Given the description of an element on the screen output the (x, y) to click on. 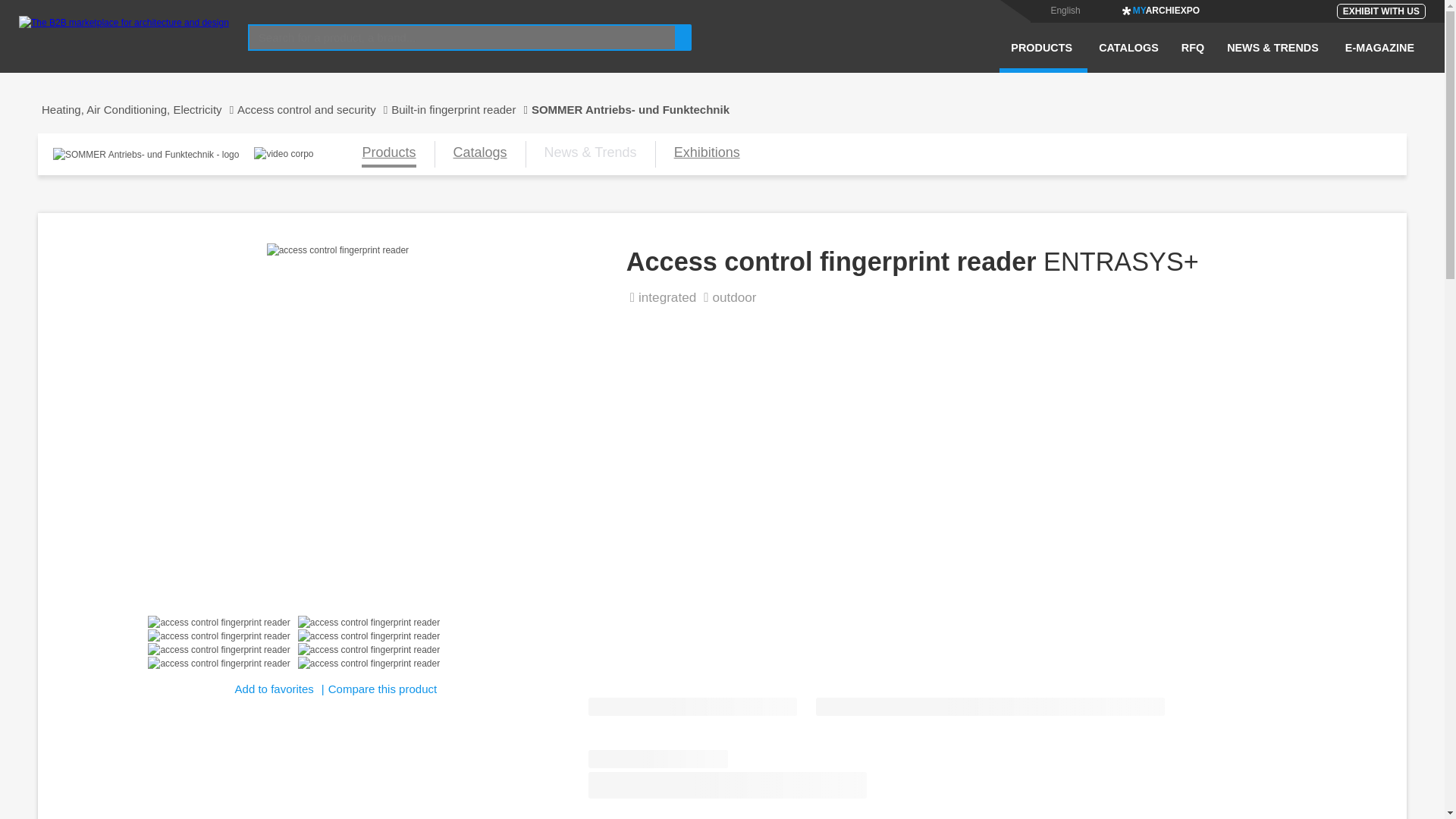
PRODUCTS (1042, 56)
Exhibitions (706, 153)
CATALOGS (1128, 56)
English (1064, 9)
Access control and security (314, 109)
Products (387, 153)
Heating, Air Conditioning, Electricity (137, 109)
RFQ (1192, 56)
Catalogs (479, 153)
E-MAGAZINE (1379, 56)
Built-in fingerprint reader (461, 109)
EXHIBIT WITH US (1380, 11)
